Given the description of an element on the screen output the (x, y) to click on. 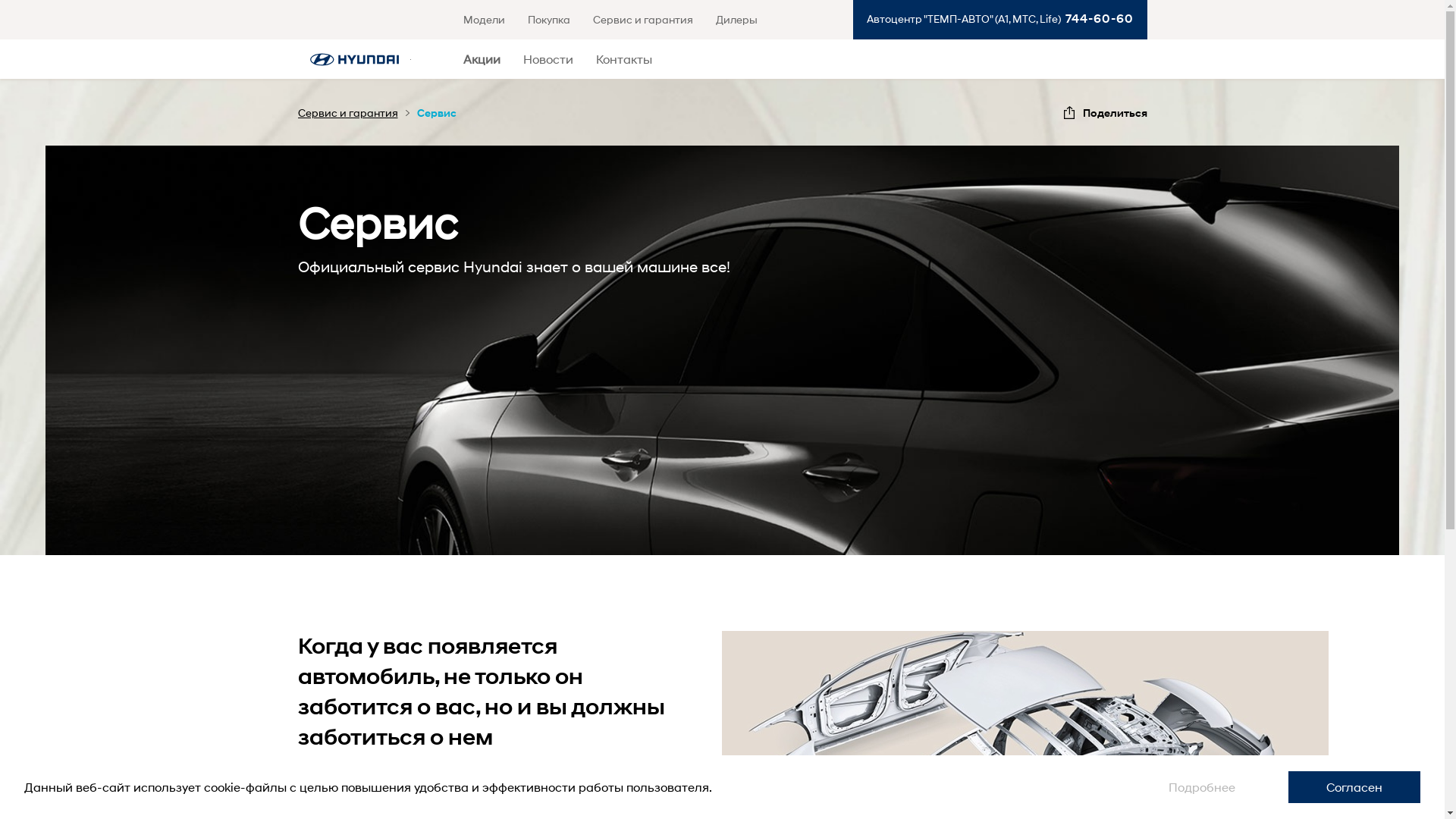
744-60-60 Element type: text (1096, 18)
